Given the description of an element on the screen output the (x, y) to click on. 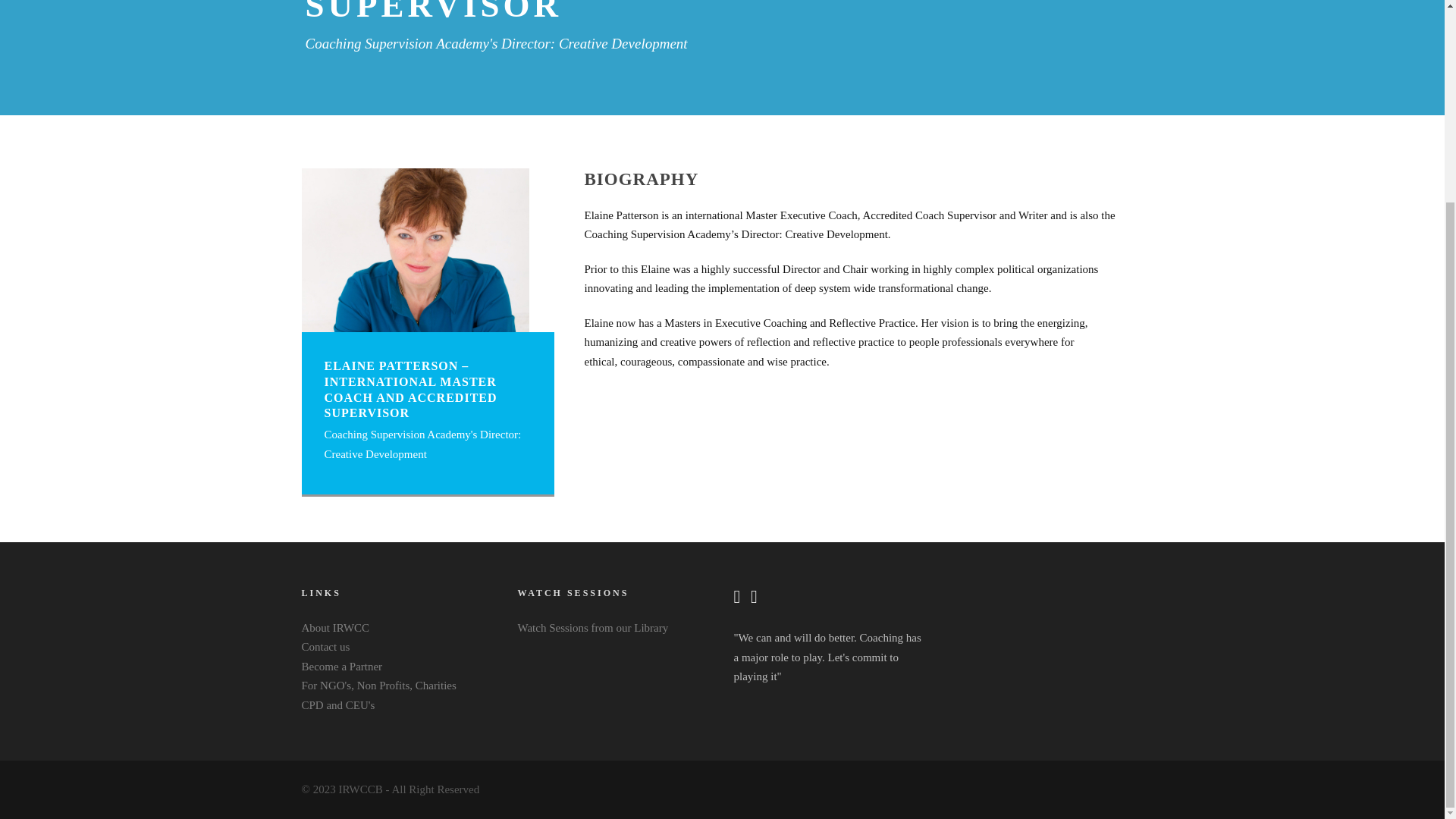
For NGO's, Non Profits, Charities (379, 685)
About IRWCC (335, 627)
Watch Sessions from our Library (592, 627)
Become a Partner (341, 666)
Contact us (325, 646)
CPD and CEU's (338, 705)
